Given the description of an element on the screen output the (x, y) to click on. 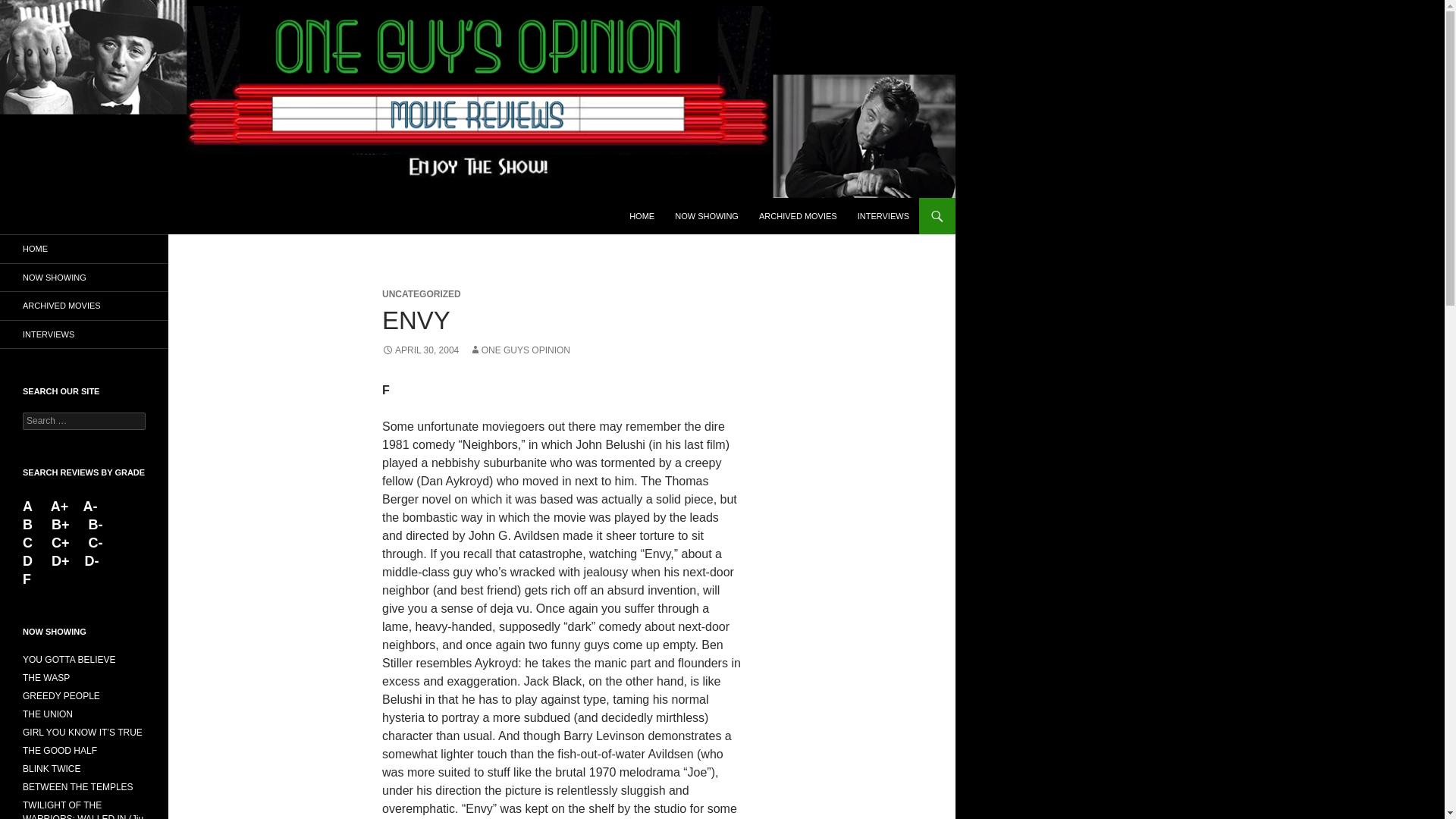
NOW SHOWING (84, 277)
B (29, 524)
YOU GOTTA BELIEVE (69, 659)
INTERVIEWS (883, 216)
C- (95, 542)
D (29, 560)
 D- (90, 560)
HOME (641, 216)
A- (89, 506)
NOW SHOWING (706, 216)
